Given the description of an element on the screen output the (x, y) to click on. 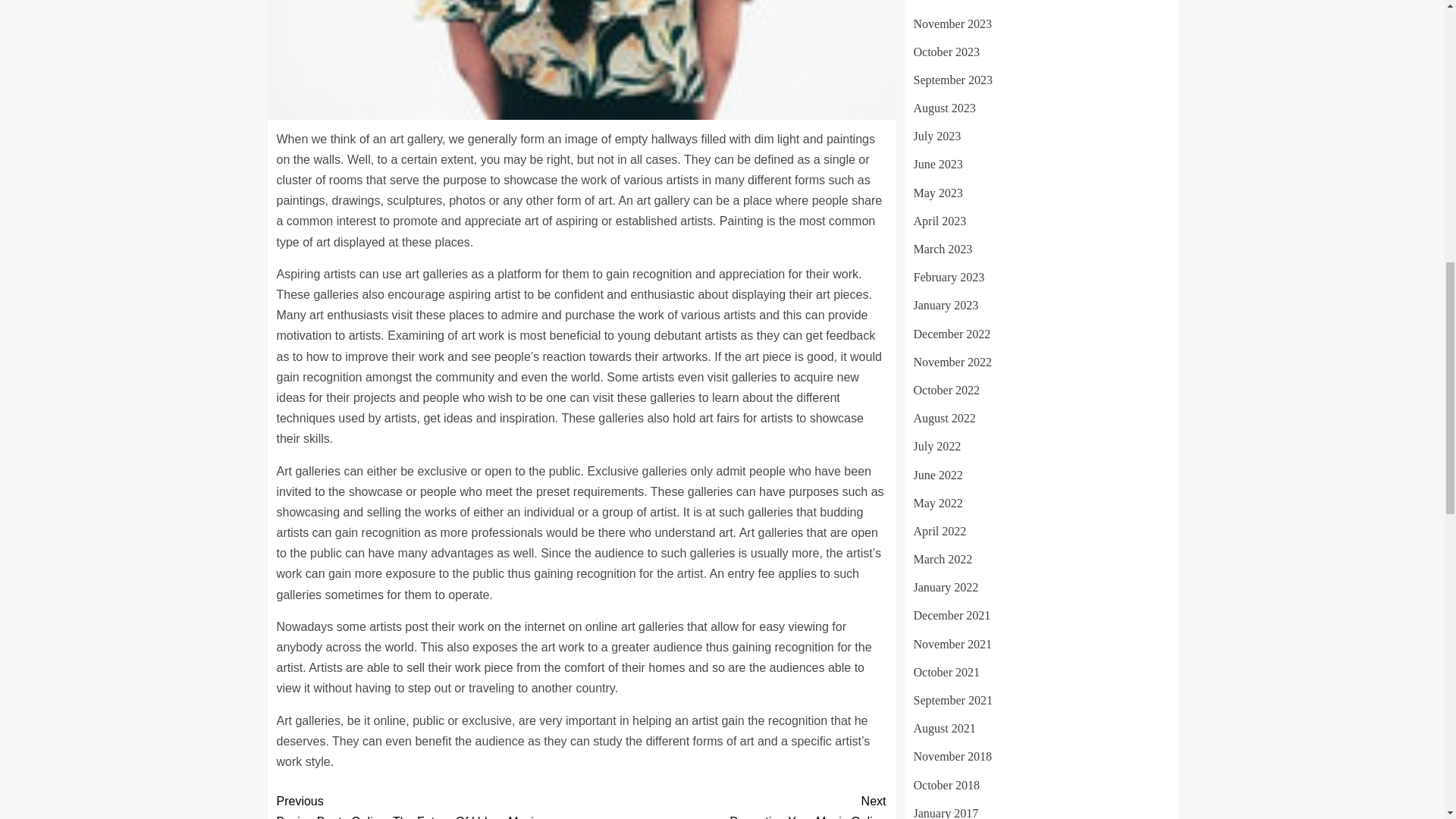
The Functions of Art Galleries (580, 59)
